Given the description of an element on the screen output the (x, y) to click on. 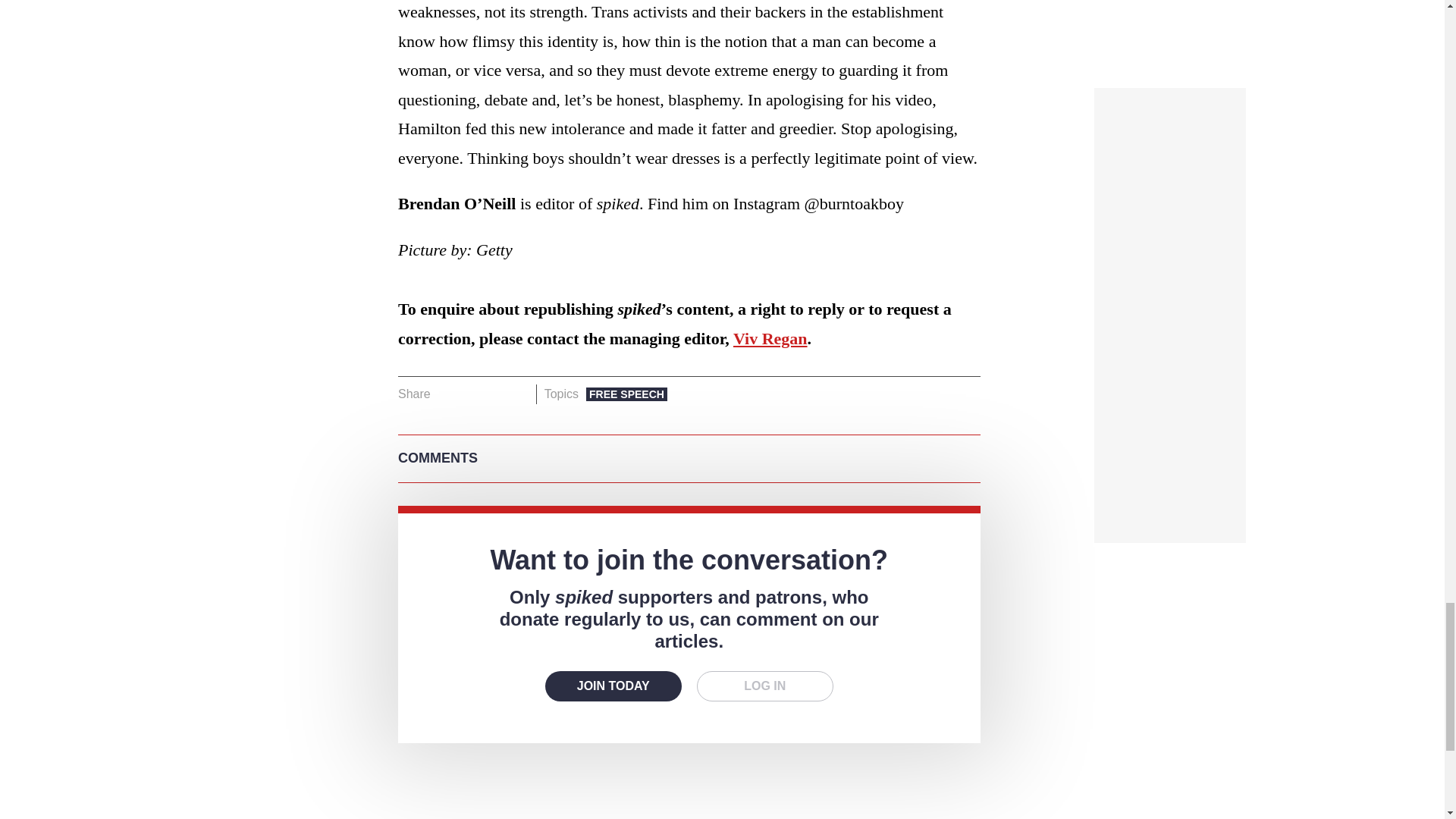
Share on Facebook (448, 394)
Share on Email (518, 394)
Share on Whatsapp (494, 394)
Share on Twitter (471, 394)
